Given the description of an element on the screen output the (x, y) to click on. 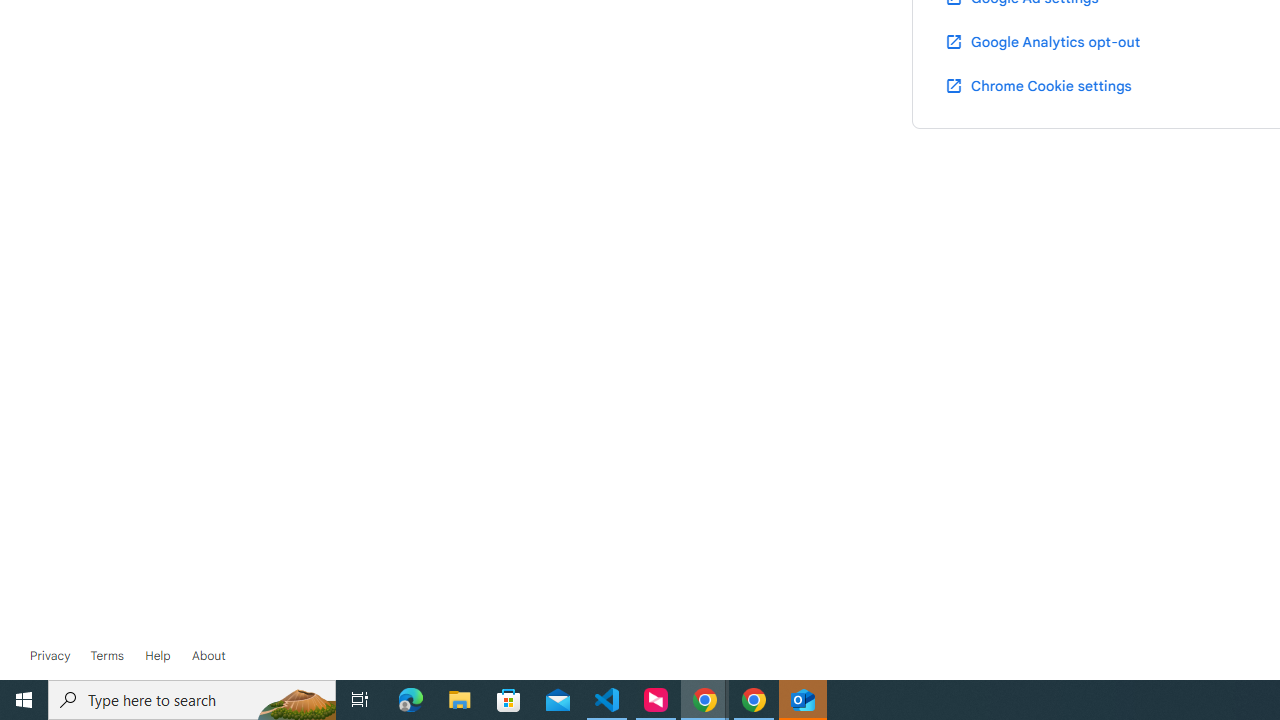
Learn more about Google Account (208, 655)
Chrome Cookie settings (1037, 85)
Google Analytics opt-out (1041, 41)
